Given the description of an element on the screen output the (x, y) to click on. 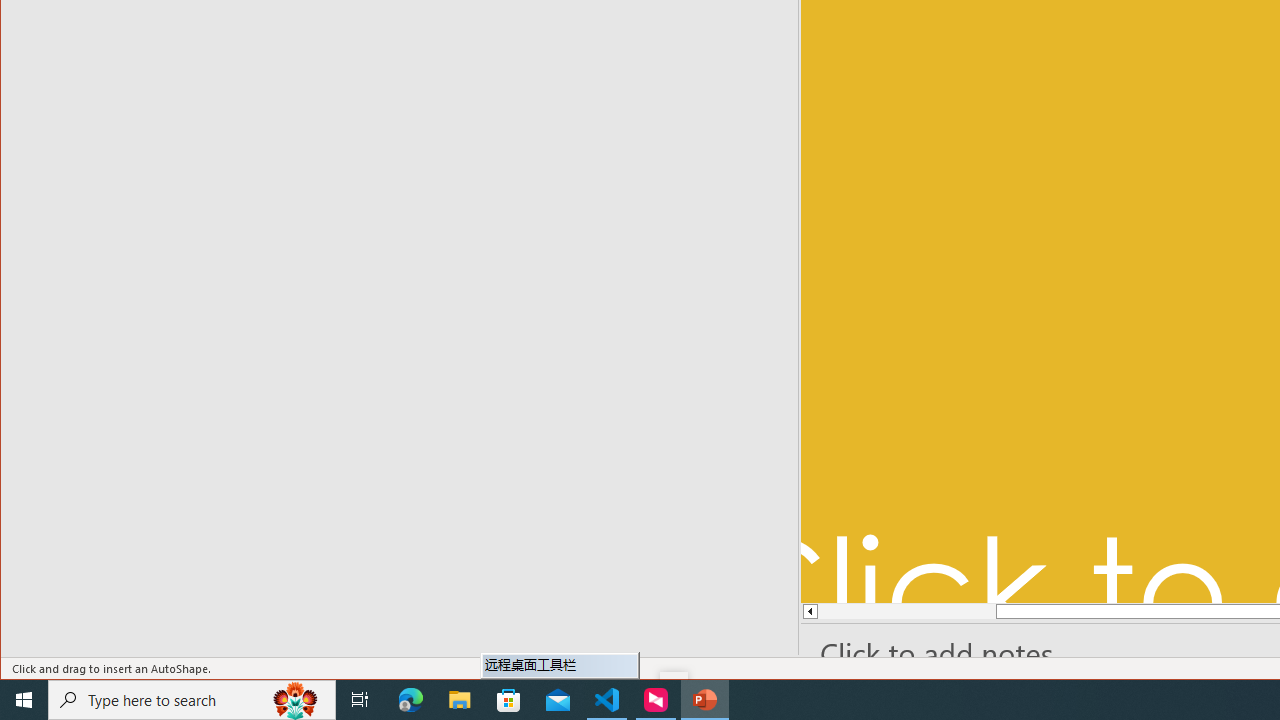
Search highlights icon opens search home window (295, 699)
Visual Studio Code - 1 running window (607, 699)
Microsoft Edge (411, 699)
Microsoft Store (509, 699)
File Explorer (460, 699)
Start (24, 699)
PowerPoint - 1 running window (704, 699)
Task View (359, 699)
Type here to search (191, 699)
